Given the description of an element on the screen output the (x, y) to click on. 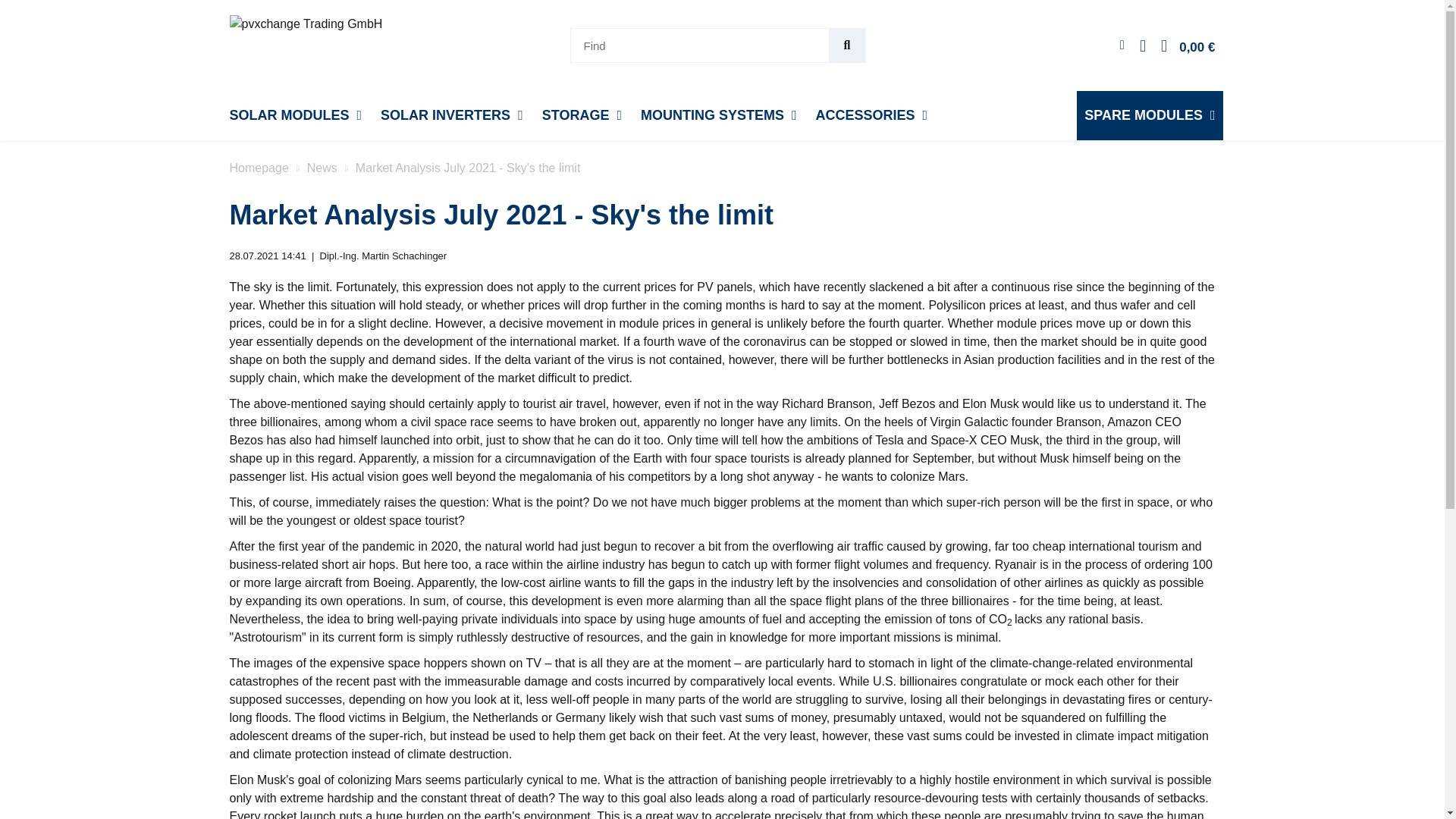
SOLAR INVERTERS (451, 115)
SOLAR MODULES (295, 115)
SOLAR MODULES (295, 115)
pvxchange Trading GmbH (304, 43)
